Given the description of an element on the screen output the (x, y) to click on. 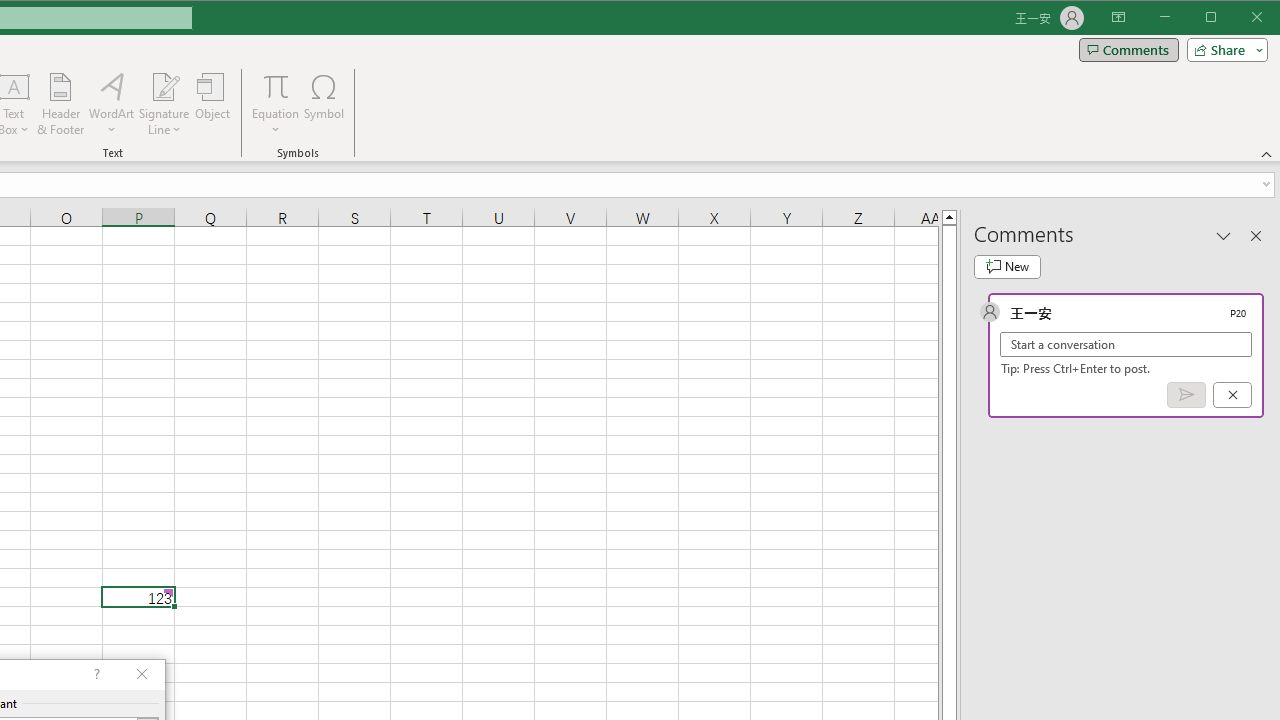
Cancel (1232, 395)
Signature Line (164, 104)
Post comment (Ctrl + Enter) (1186, 395)
Header & Footer... (60, 104)
Equation (275, 86)
Symbol... (324, 104)
New comment (1007, 266)
